Given the description of an element on the screen output the (x, y) to click on. 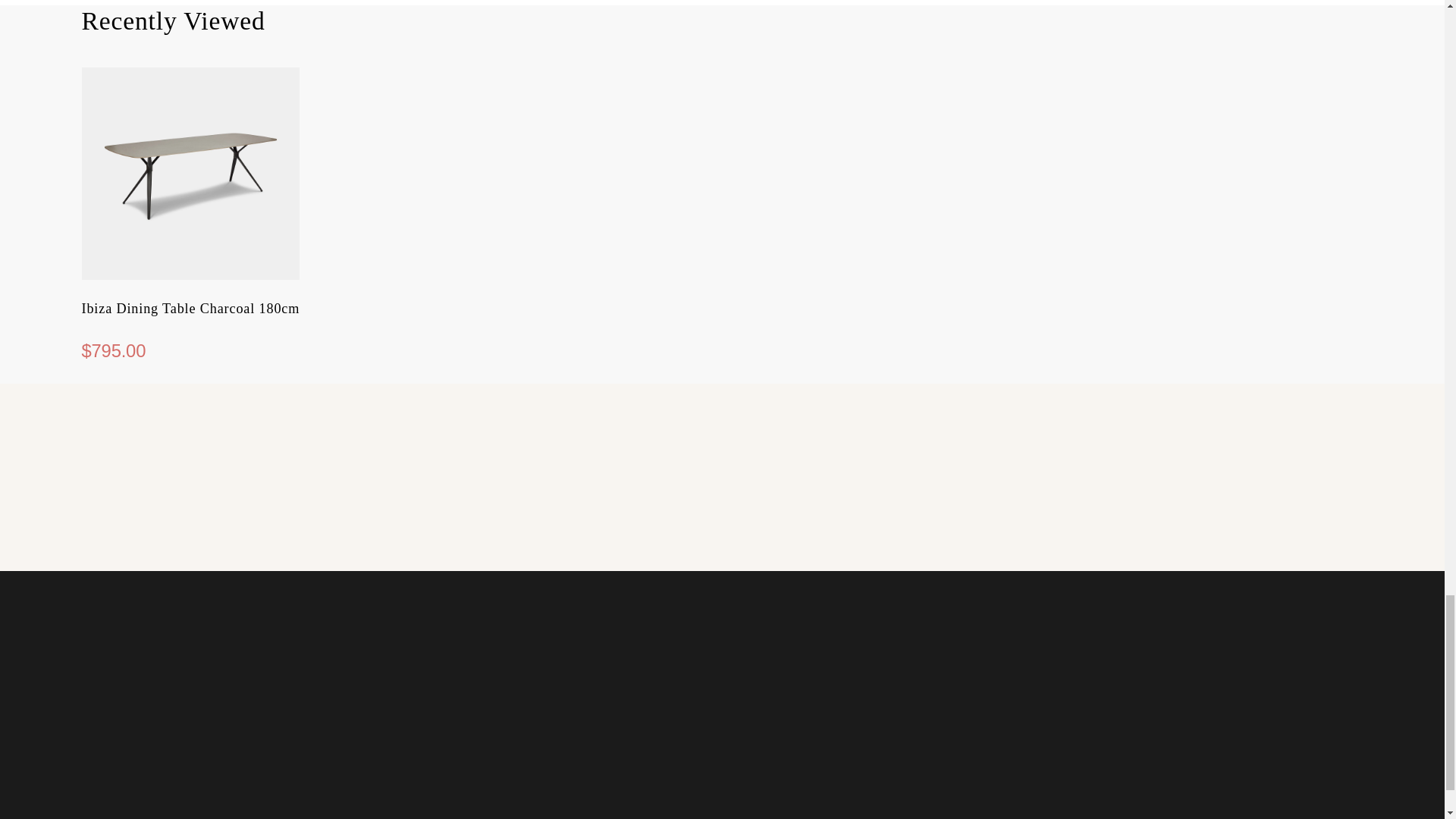
Locations (721, 531)
Contact Us (289, 531)
